Given the description of an element on the screen output the (x, y) to click on. 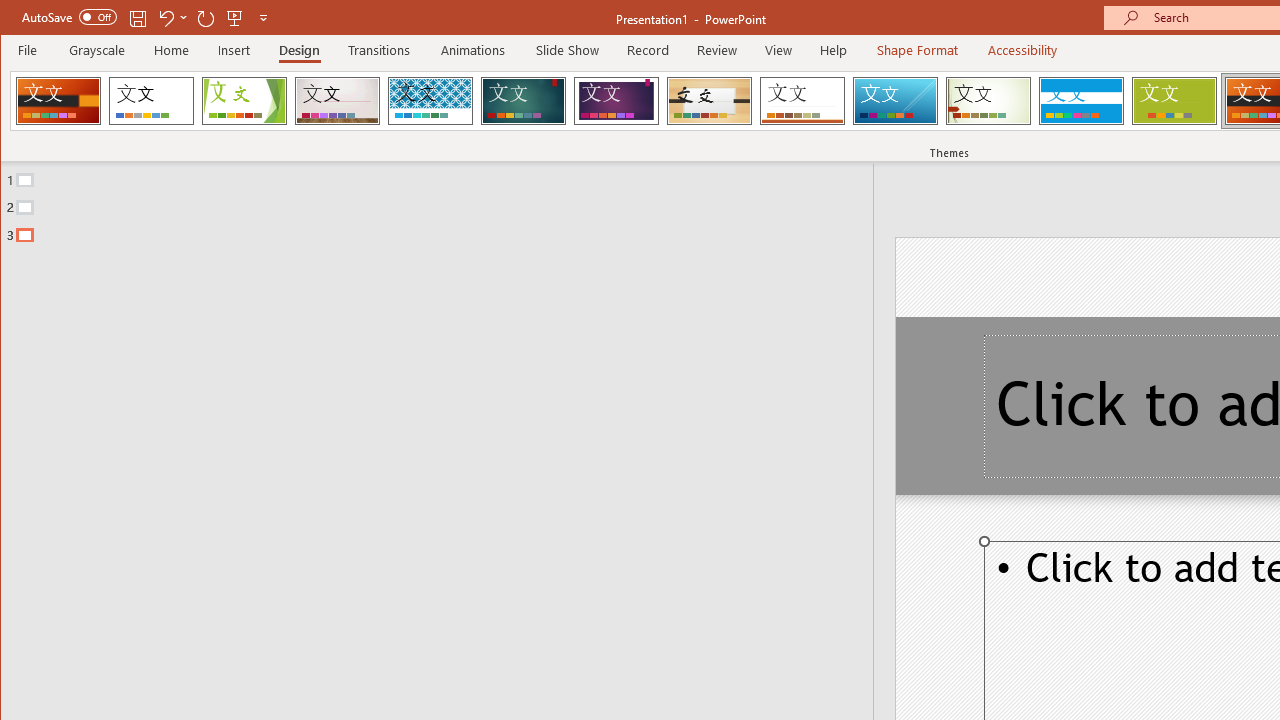
Basis (1174, 100)
Gallery (337, 100)
Shape Format (916, 50)
Grayscale (97, 50)
Facet (244, 100)
Dividend (57, 100)
Banded (1081, 100)
